Given the description of an element on the screen output the (x, y) to click on. 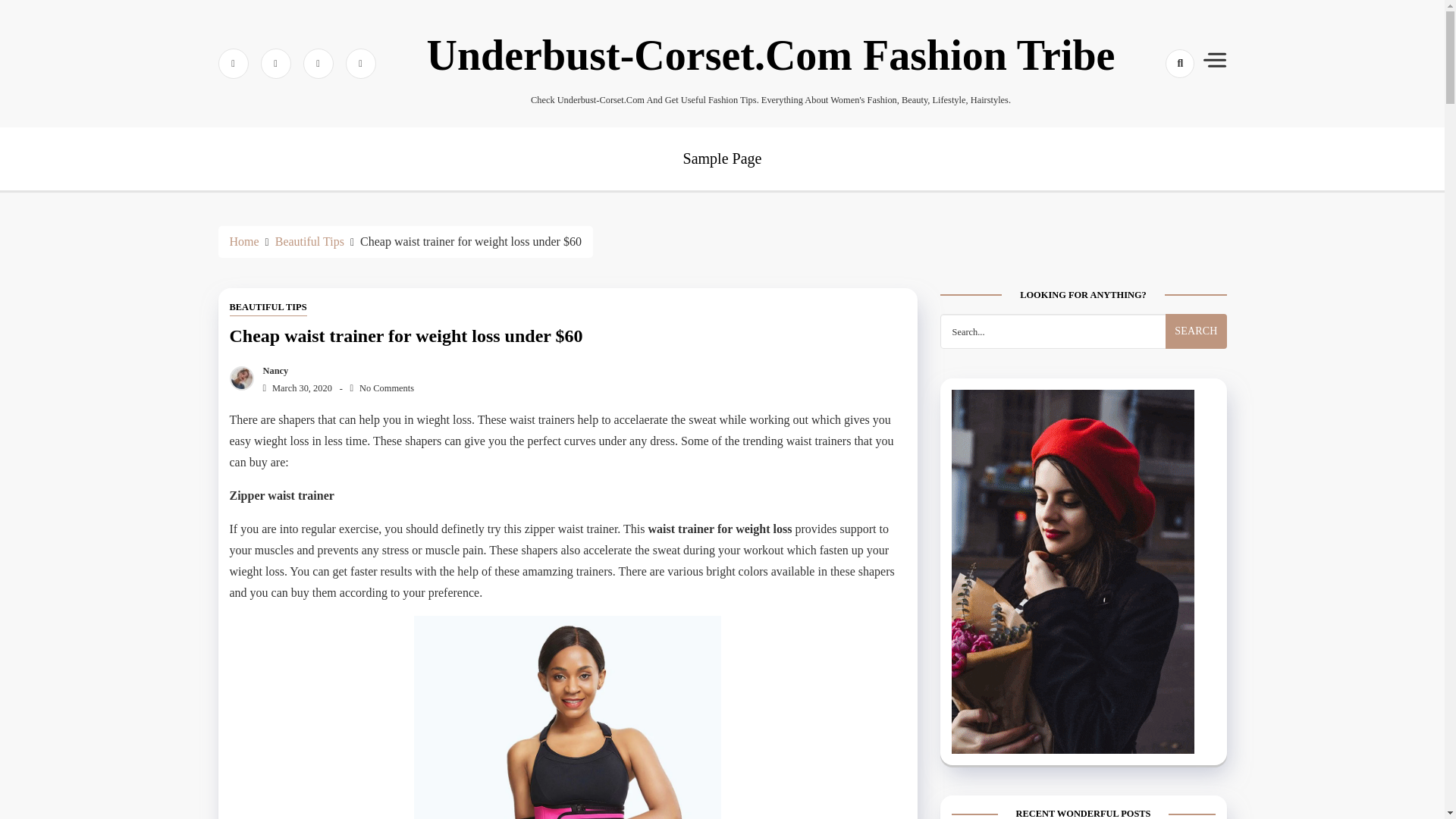
Search (1195, 330)
Search (1195, 330)
Search (1152, 117)
Nancy (272, 370)
Home (243, 241)
Underbust-Corset.Com Fashion Tribe (770, 54)
BEAUTIFUL TIPS (266, 307)
Sample Page (721, 158)
March 30, 2020 (293, 388)
Beautiful Tips (309, 241)
